Given the description of an element on the screen output the (x, y) to click on. 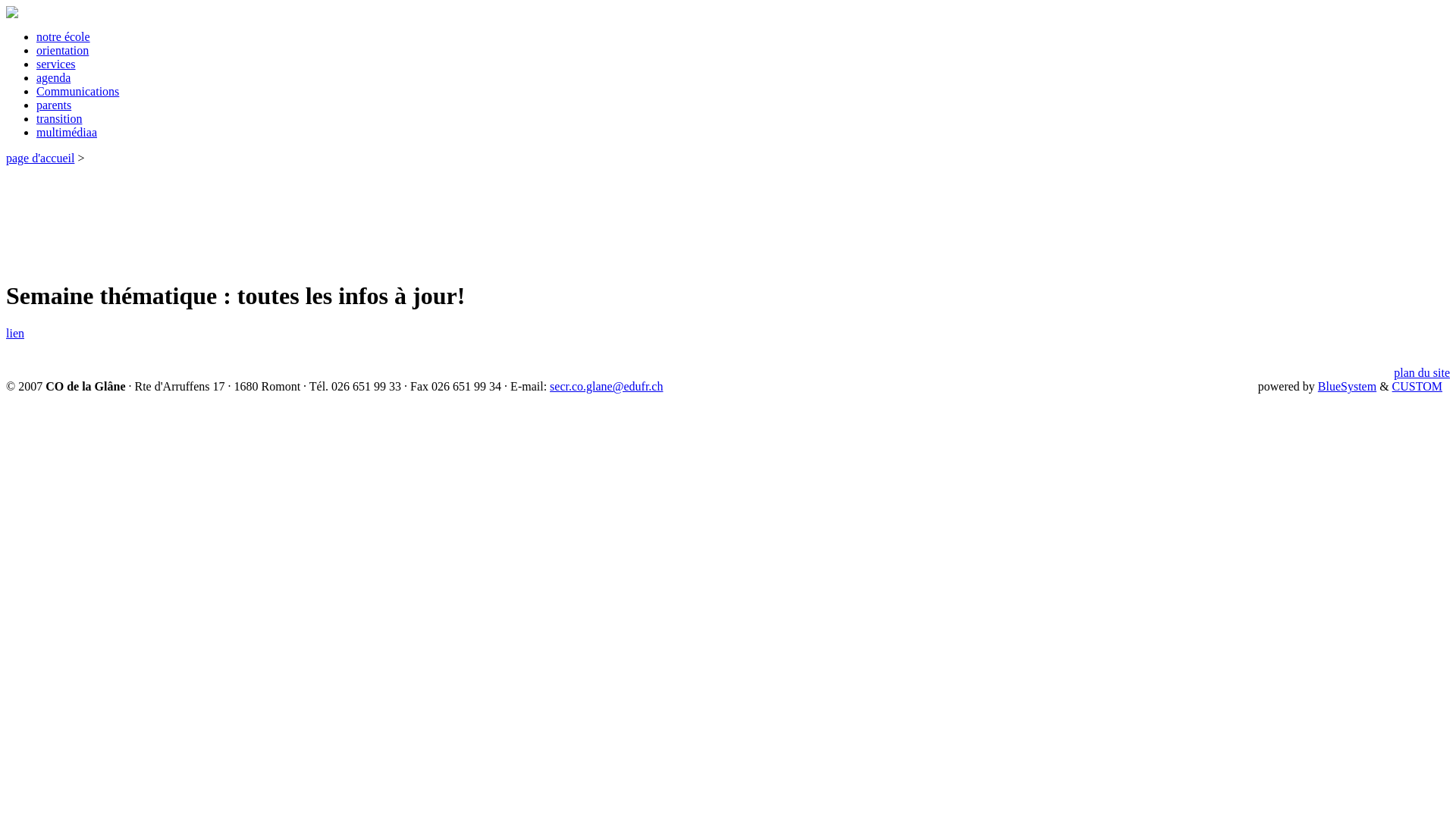
CUSTOM Element type: text (1417, 385)
Communications Element type: text (77, 90)
transition Element type: text (58, 118)
secr.co.glane@edufr.ch Element type: text (605, 385)
parents Element type: text (53, 104)
orientation Element type: text (62, 49)
plan du site Element type: text (1421, 372)
agenda Element type: text (53, 77)
lien Element type: text (15, 332)
page d'accueil Element type: text (40, 157)
BlueSystem Element type: text (1346, 385)
services Element type: text (55, 63)
